Given the description of an element on the screen output the (x, y) to click on. 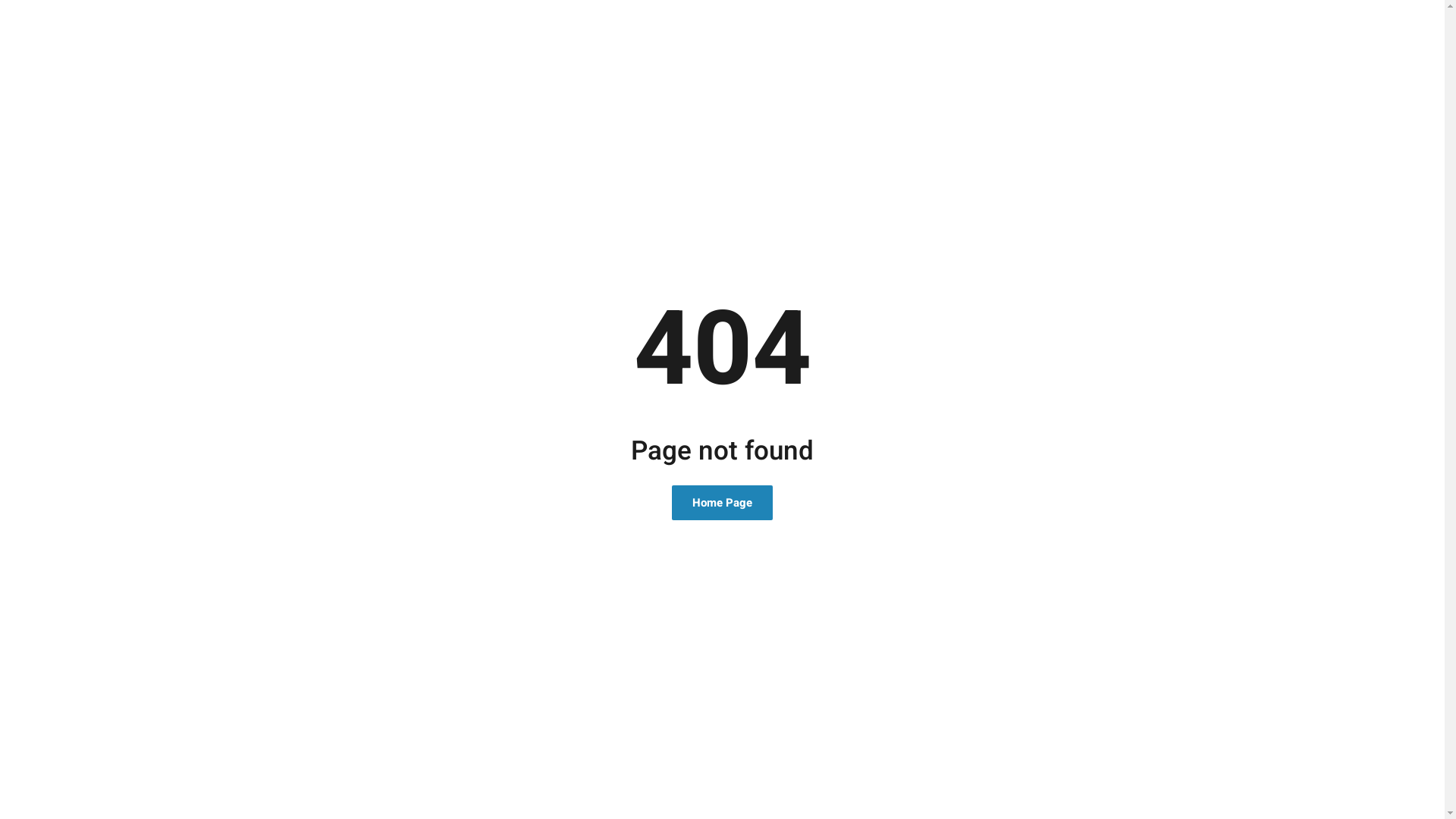
Home Page Element type: text (721, 502)
